Given the description of an element on the screen output the (x, y) to click on. 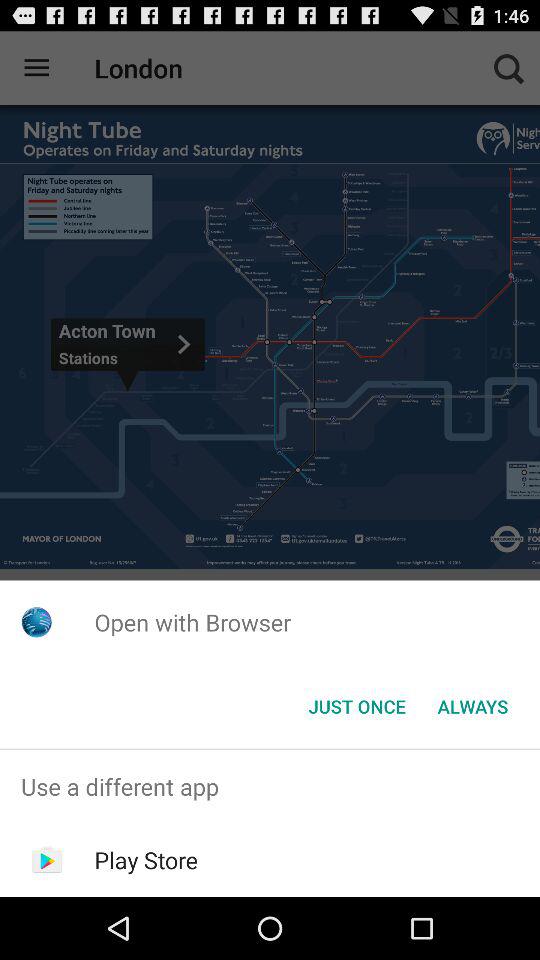
choose app below the open with browser app (356, 706)
